Given the description of an element on the screen output the (x, y) to click on. 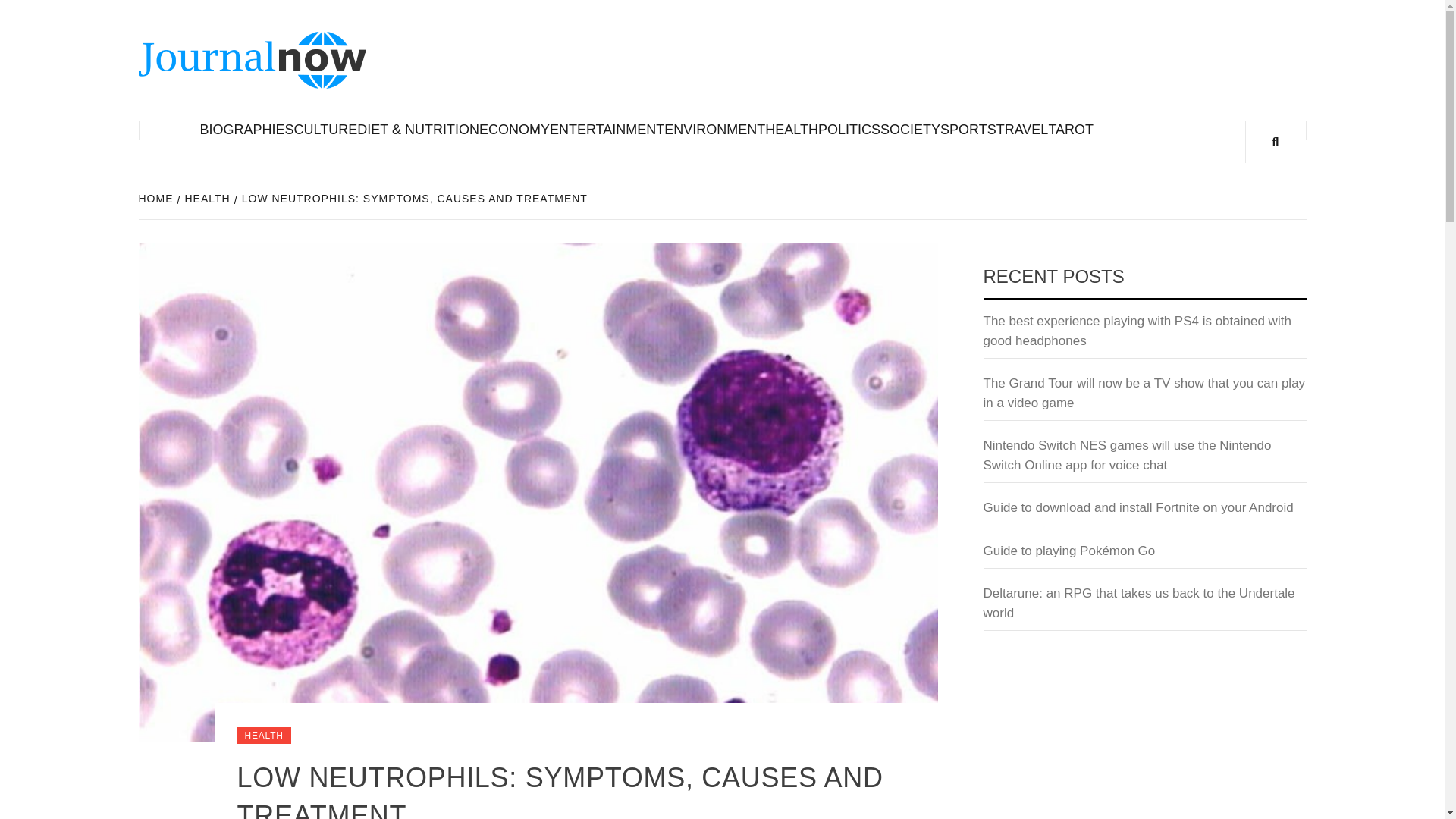
HOME (157, 198)
ENVIRONMENT (714, 129)
Guide to download and install Fortnite on your Android (1144, 511)
JOURNALNOW (494, 54)
SOCIETY (910, 129)
TRAVEL (1021, 129)
POLITICS (849, 129)
CULTURE (326, 129)
SPORTS (967, 129)
